Given the description of an element on the screen output the (x, y) to click on. 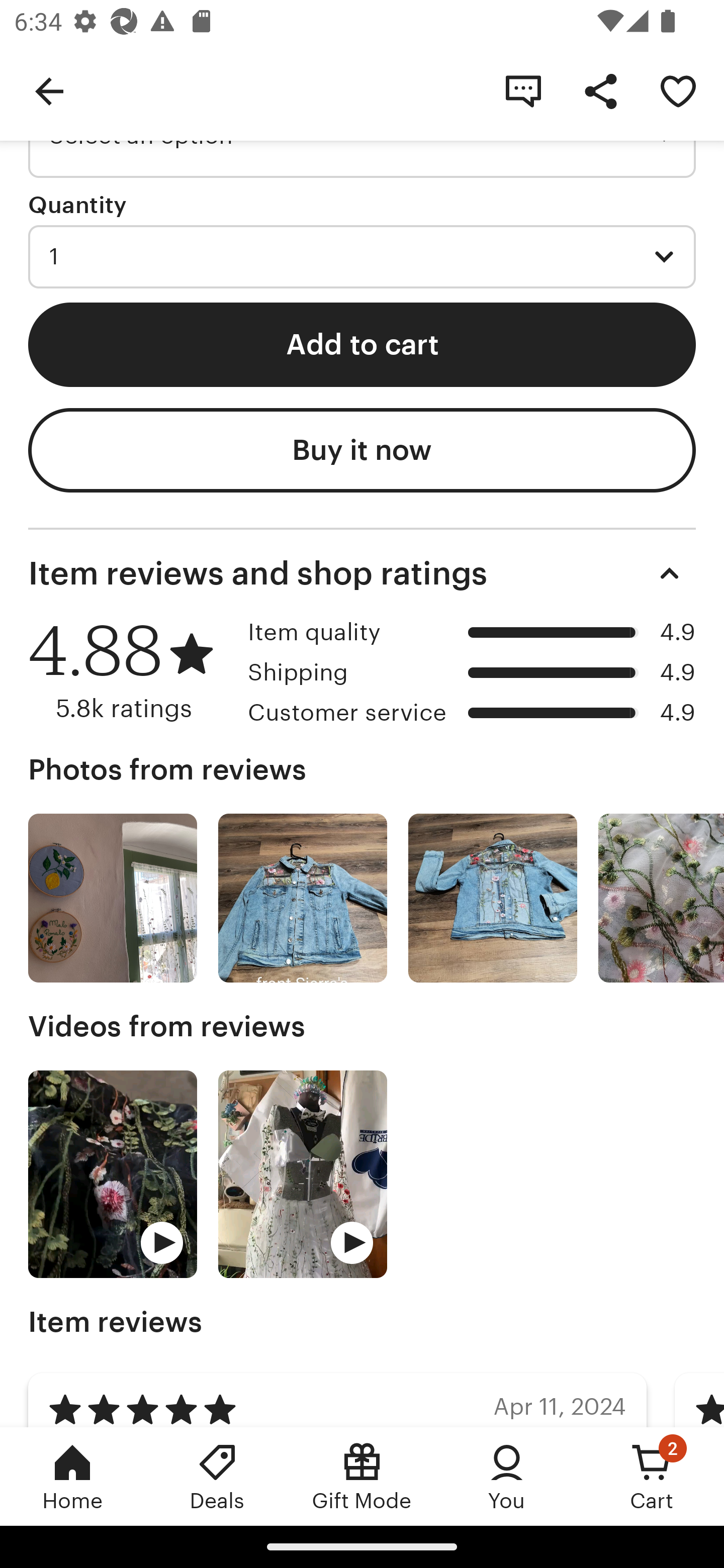
Navigate up (49, 90)
Contact shop (523, 90)
Share (600, 90)
Quantity (77, 204)
1 (361, 256)
Add to cart (361, 344)
Buy it now (361, 449)
Item reviews and shop ratings (362, 573)
4.88 5.8k ratings (130, 670)
Photo from review (112, 898)
Photo from review (302, 898)
Photo from review (492, 898)
Deals (216, 1475)
Gift Mode (361, 1475)
You (506, 1475)
Cart, 2 new notifications Cart (651, 1475)
